Given the description of an element on the screen output the (x, y) to click on. 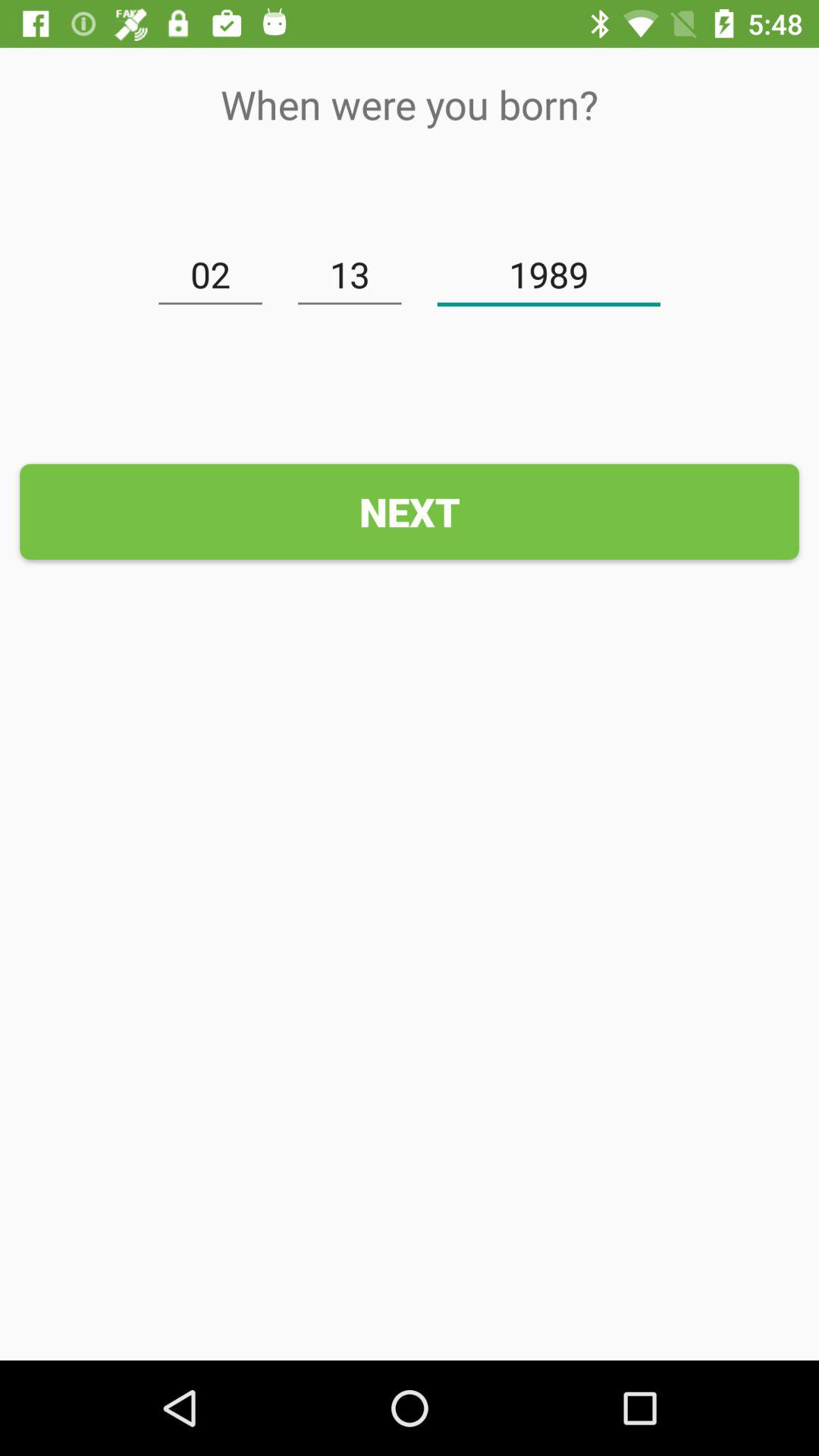
jump until the 13 (349, 275)
